Given the description of an element on the screen output the (x, y) to click on. 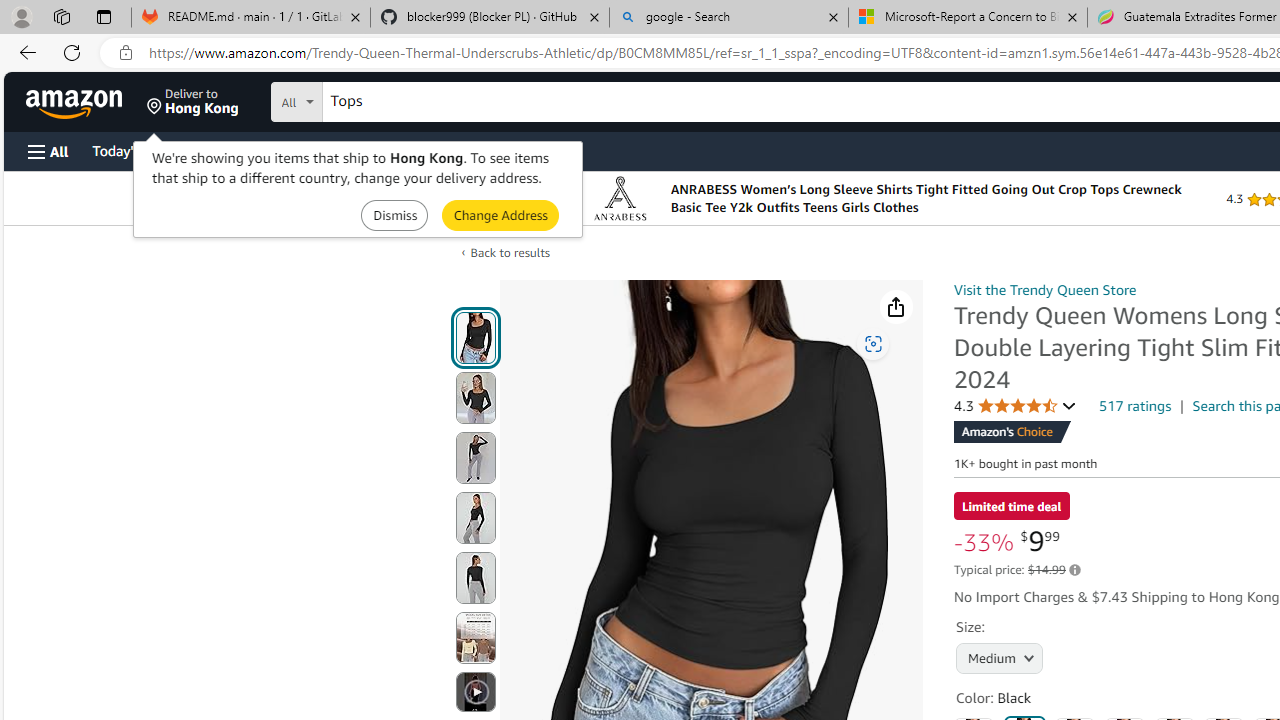
Search in (371, 99)
Visit the Trendy Queen Store (1044, 289)
Gift Cards (442, 150)
Learn more about Amazon pricing and savings (1074, 570)
Share (896, 307)
AutomationID: native_dropdown_selected_size_name (996, 656)
Submit (499, 214)
